Given the description of an element on the screen output the (x, y) to click on. 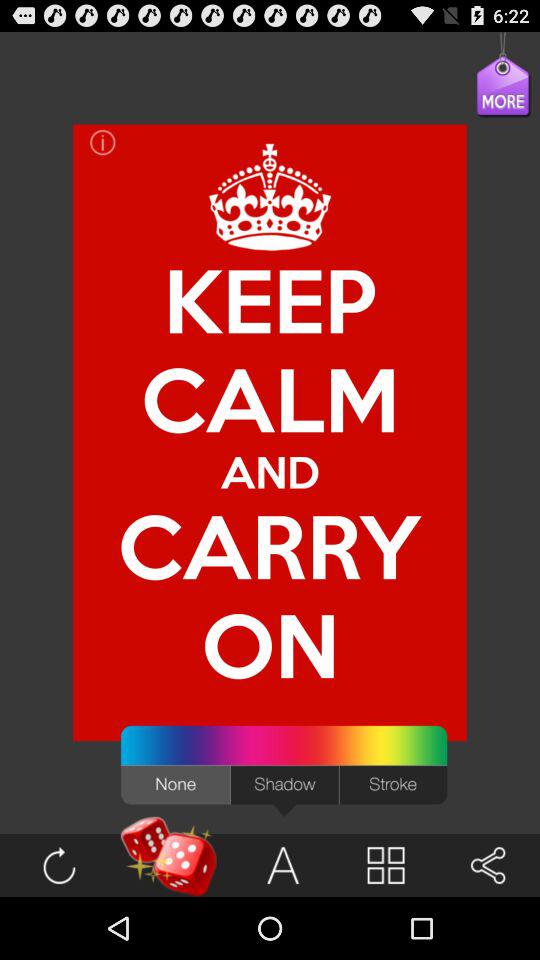
press icon above the calm (269, 197)
